Given the description of an element on the screen output the (x, y) to click on. 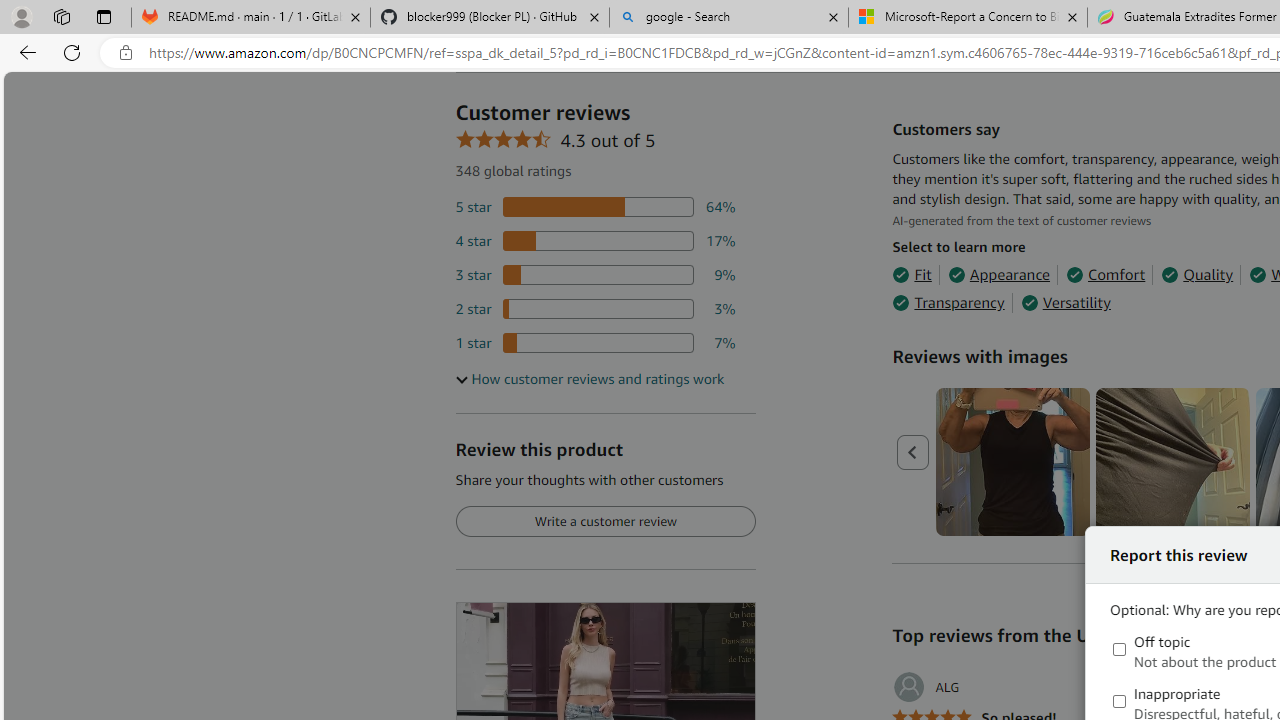
Class: a-carousel-card (1173, 462)
17 percent of reviews have 4 stars (595, 241)
Previous page (913, 452)
google - Search (729, 17)
3 percent of reviews have 2 stars (595, 308)
Appearance (998, 274)
ALG (926, 687)
